Given the description of an element on the screen output the (x, y) to click on. 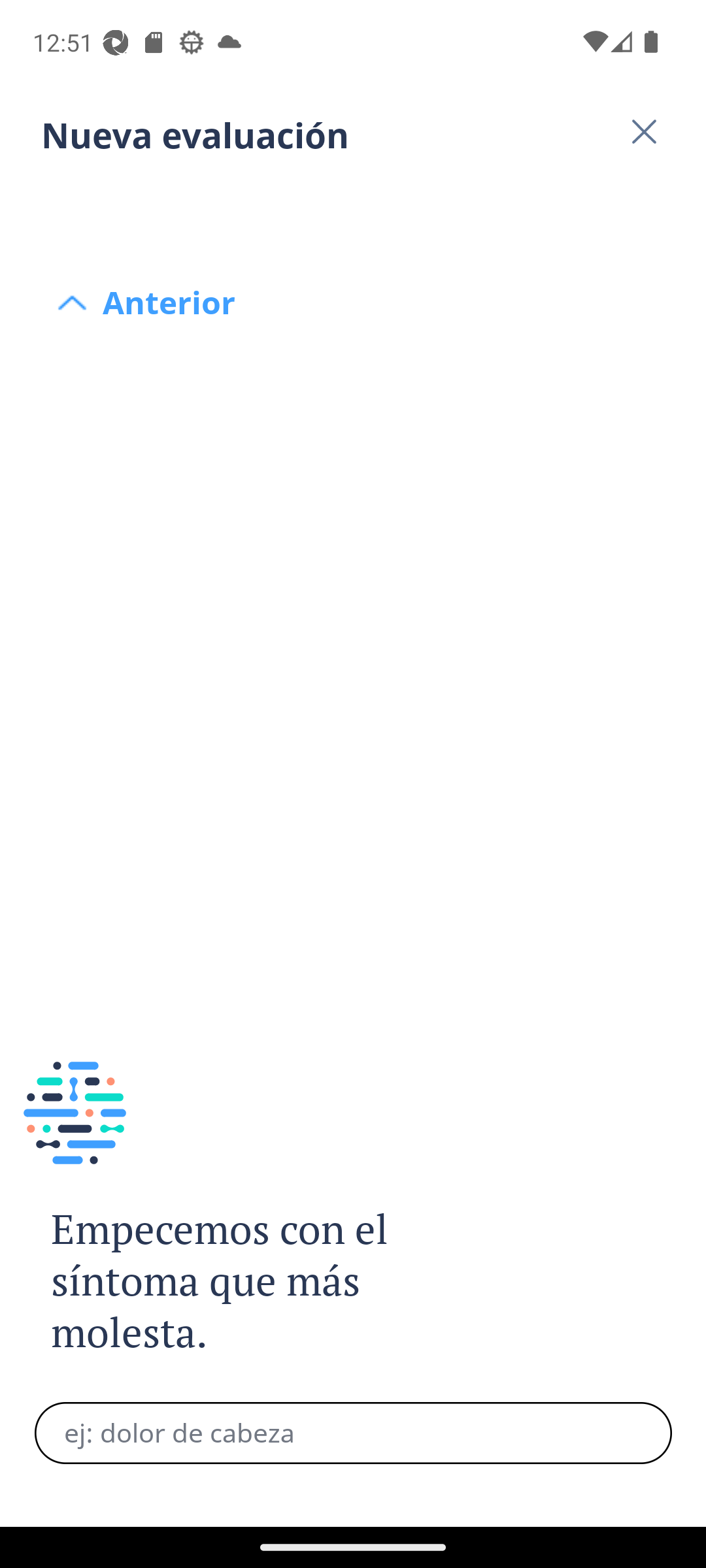
undo Anterior (353, 203)
Empecemos con el síntoma que más molesta. (240, 1281)
ej: dolor de cabeza (353, 1432)
